Given the description of an element on the screen output the (x, y) to click on. 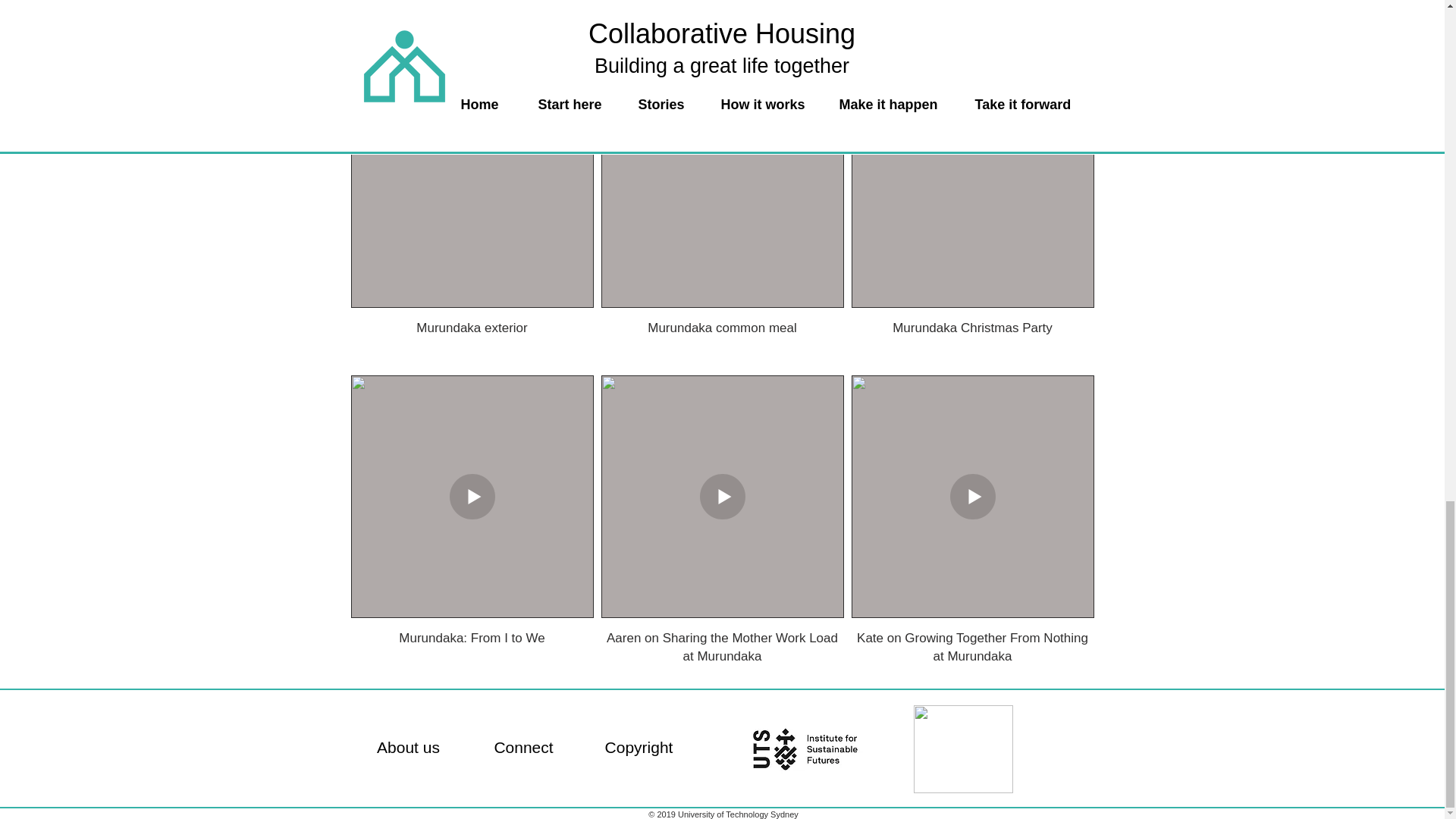
Proudly-funded-by-the-NSW-Government-web (961, 749)
About us (408, 746)
Connect (523, 746)
Learn more at Murundaka (450, 2)
